Given the description of an element on the screen output the (x, y) to click on. 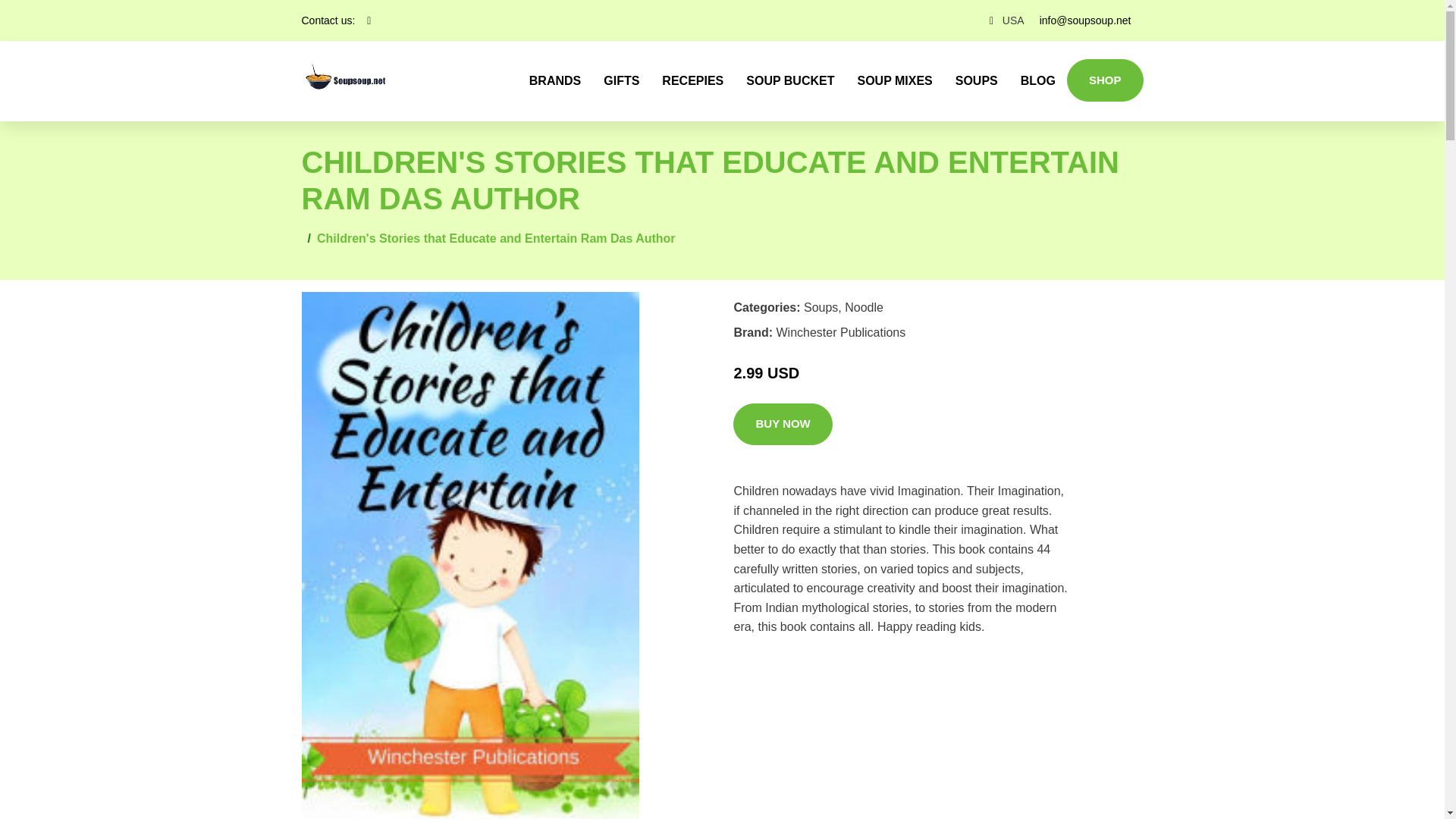
Soups (820, 307)
SOUP BUCKET (790, 80)
USA (1014, 20)
RECEPIES (692, 80)
SHOP (1104, 79)
BRANDS (555, 80)
Noodle (863, 307)
BUY NOW (782, 424)
SOUP MIXES (894, 80)
